Given the description of an element on the screen output the (x, y) to click on. 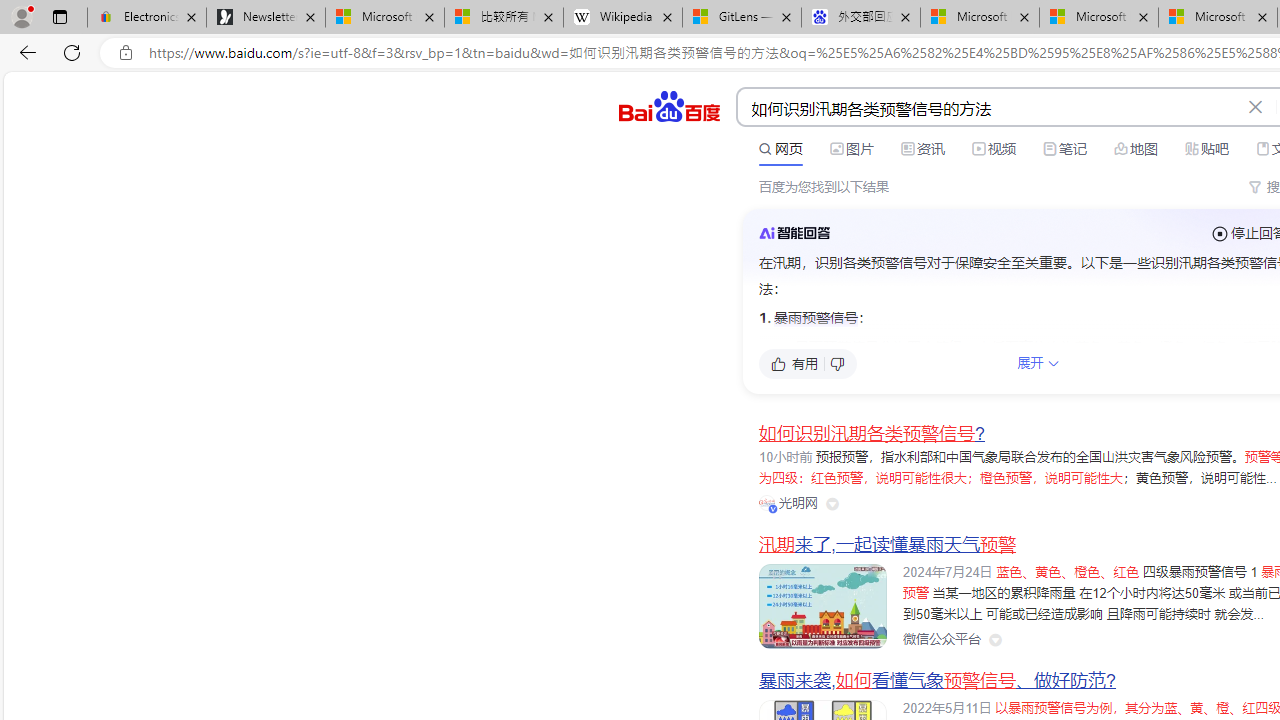
Class: img-light_7jMUg (794, 232)
Tab actions menu (59, 16)
Class: vip-icon_kNmNt (773, 508)
Class: siteLink_9TPP3 (941, 639)
Newsletter Sign Up (266, 17)
Electronics, Cars, Fashion, Collectibles & More | eBay (147, 17)
AutomationID: kw (989, 107)
